Given the description of an element on the screen output the (x, y) to click on. 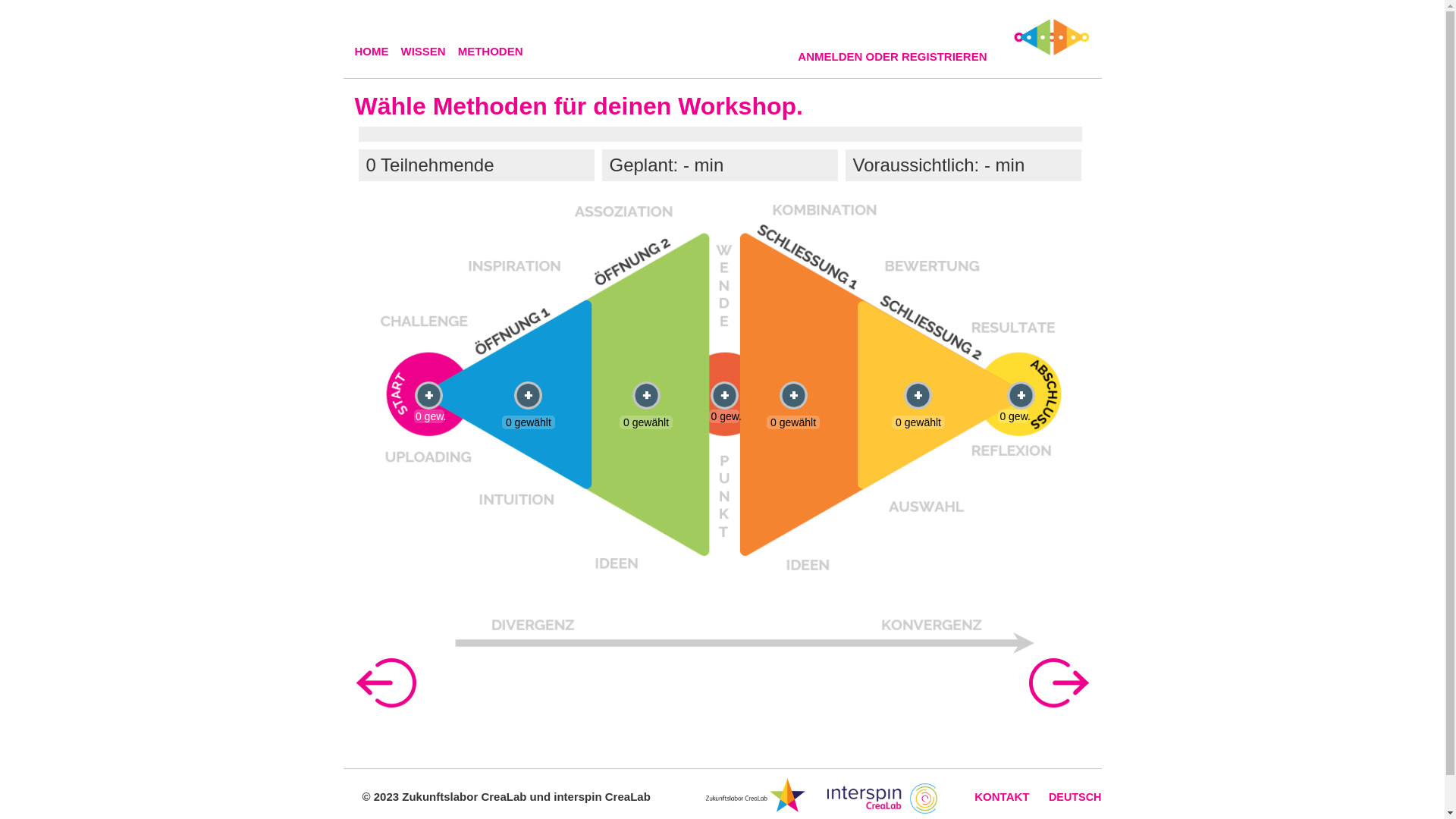
ANMELDEN ODER REGISTRIEREN Element type: text (897, 56)
METHODEN Element type: text (496, 51)
WISSEN Element type: text (428, 51)
DEUTSCH Element type: text (1074, 796)
HOME Element type: text (377, 51)
KONTAKT Element type: text (1001, 796)
